Given the description of an element on the screen output the (x, y) to click on. 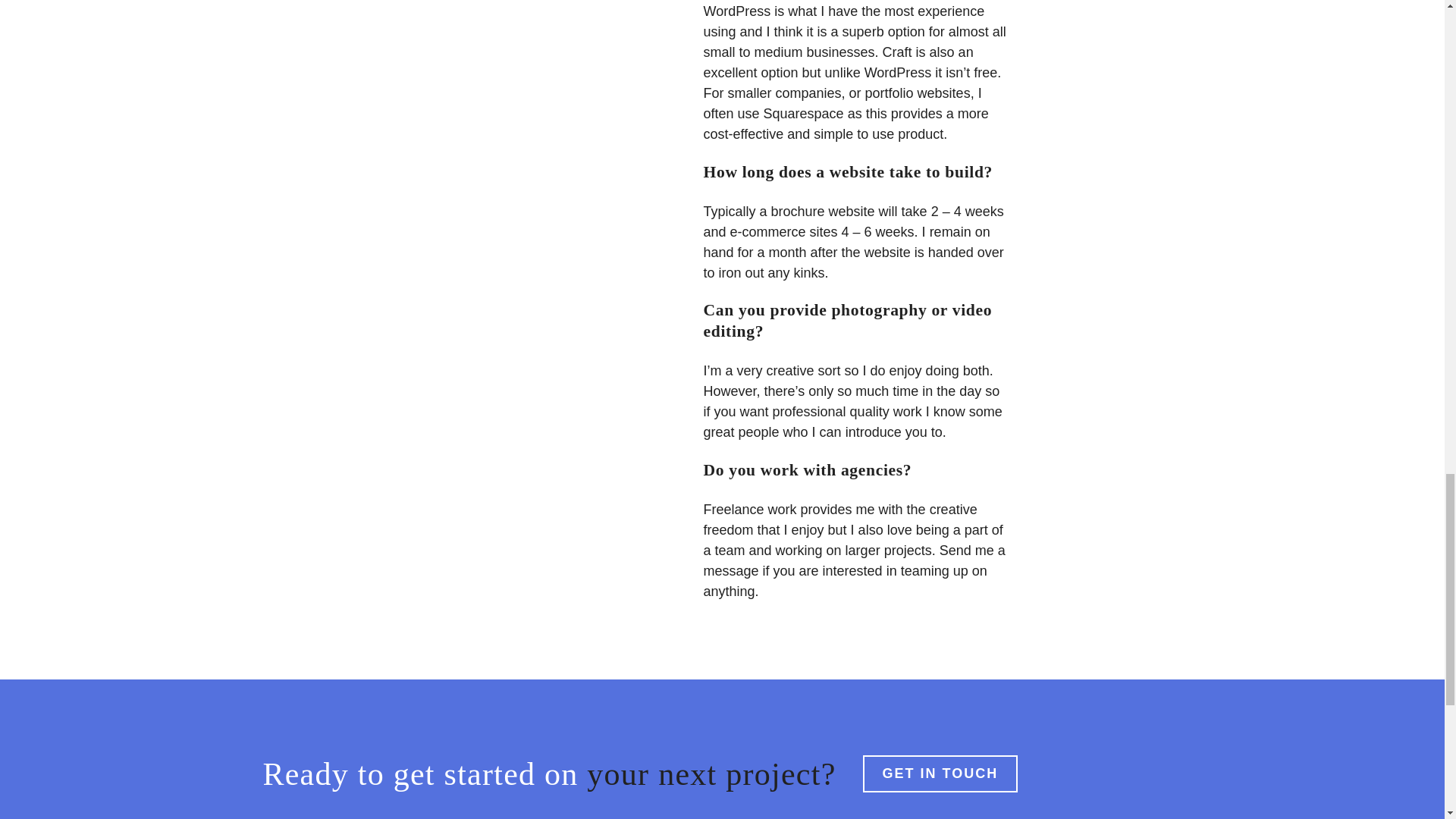
GET IN TOUCH (940, 773)
